Given the description of an element on the screen output the (x, y) to click on. 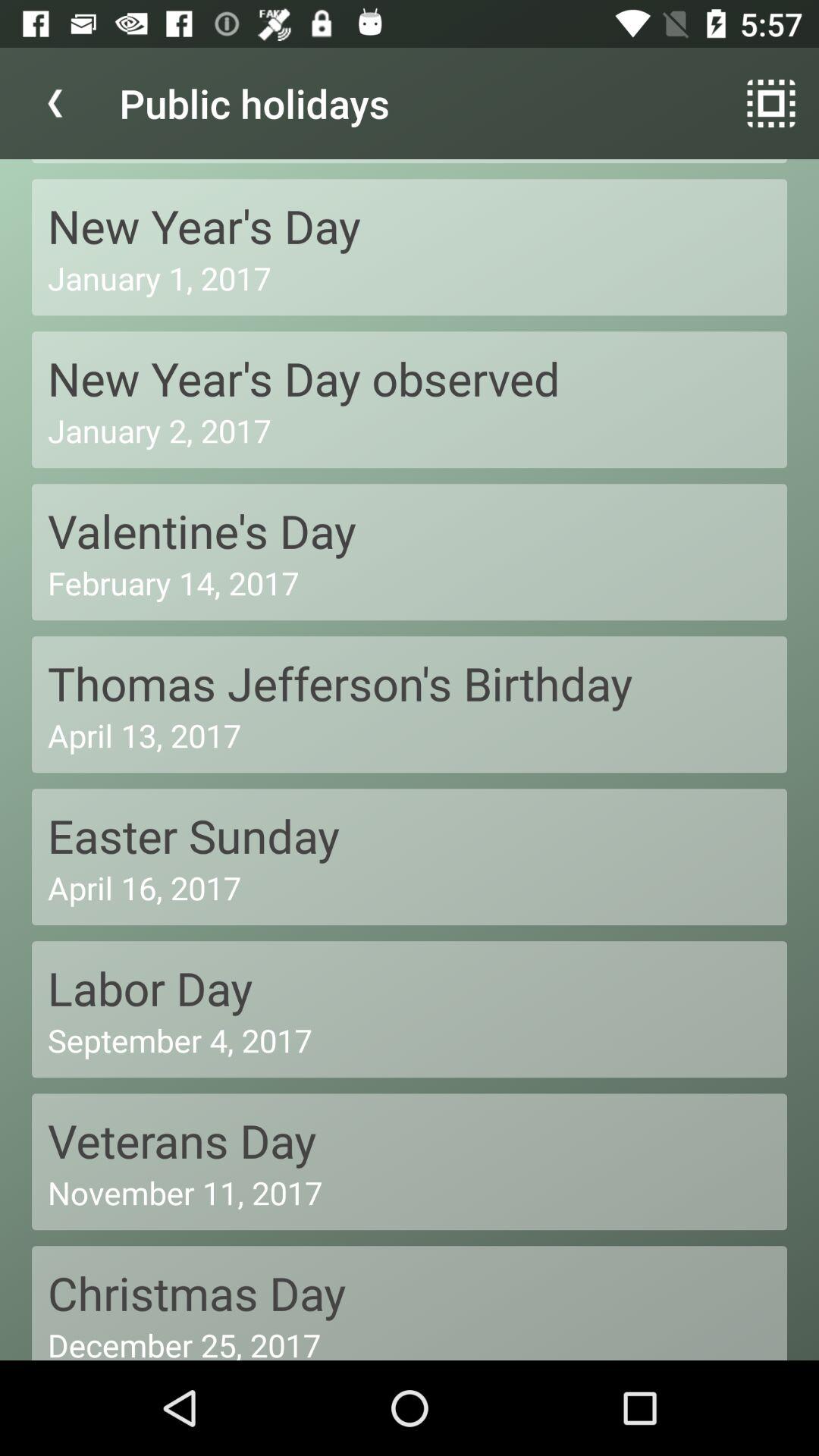
swipe until the september 4, 2017 item (409, 1039)
